Given the description of an element on the screen output the (x, y) to click on. 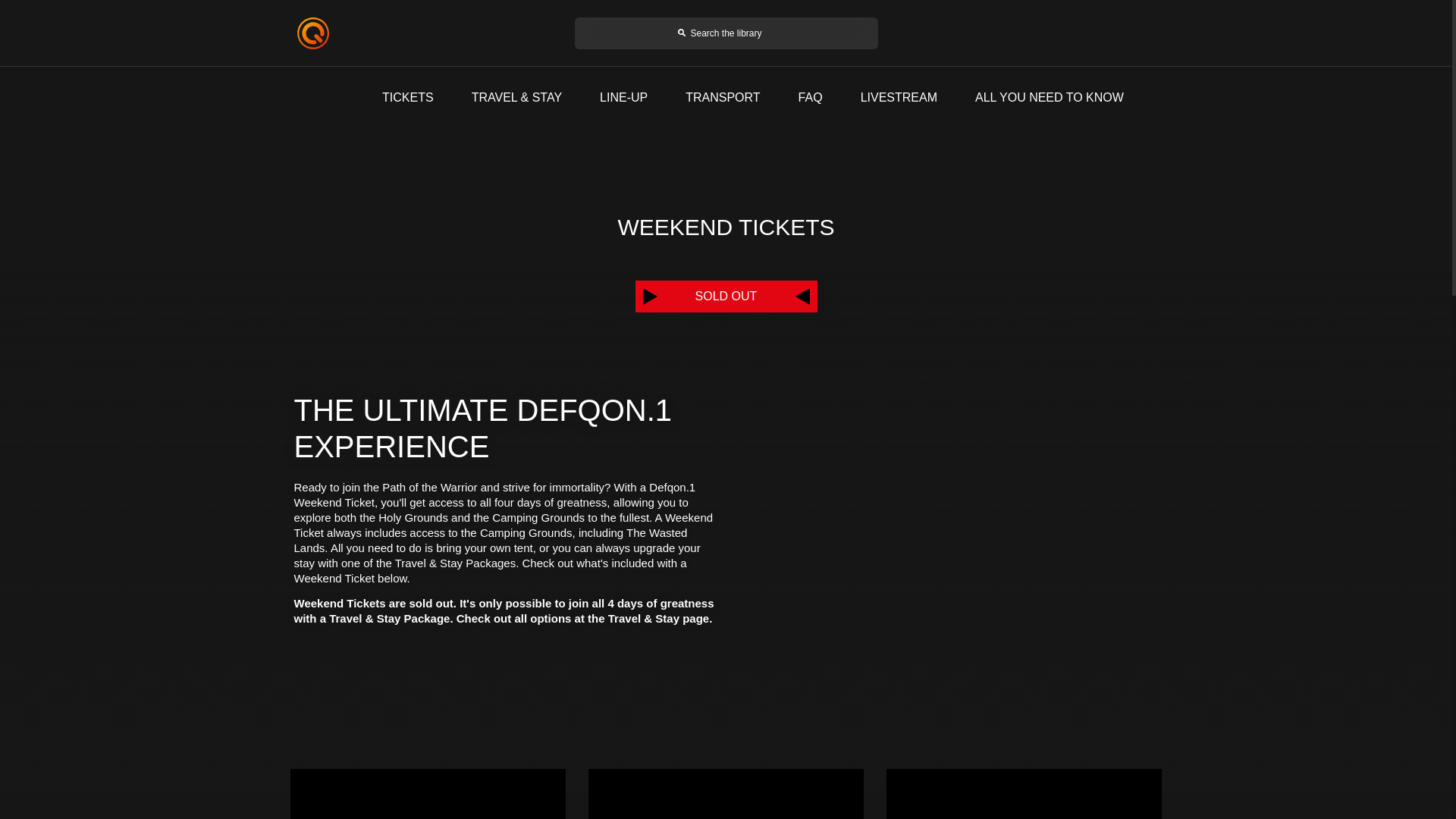
SOLD OUT (725, 296)
ALL YOU NEED TO KNOW (1049, 97)
LIVESTREAM (898, 97)
TICKETS (407, 97)
FAQ (809, 97)
LINE-UP (623, 97)
TRANSPORT (722, 97)
